Given the description of an element on the screen output the (x, y) to click on. 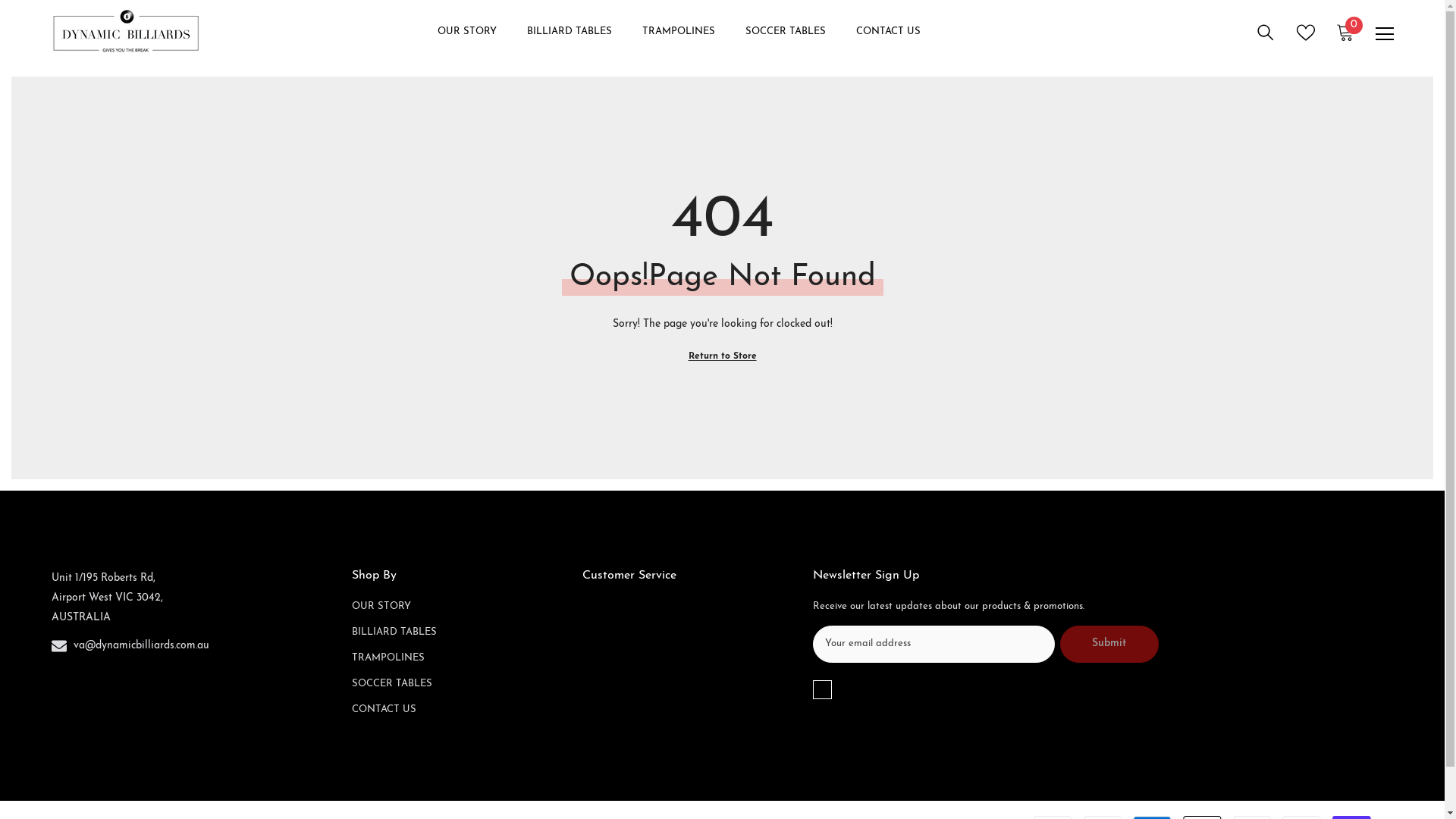
Hamburger Icon Element type: hover (1384, 34)
SOCCER TABLES Element type: text (784, 42)
TRAMPOLINES Element type: text (387, 658)
CONTACT US Element type: text (383, 709)
BILLIARD TABLES Element type: text (393, 632)
CONTACT US Element type: text (887, 42)
Cart
0
0 items Element type: text (1345, 32)
SOCCER TABLES Element type: text (391, 683)
TRAMPOLINES Element type: text (677, 42)
OUR STORY Element type: text (466, 42)
Return to Store Element type: text (722, 356)
OUR STORY Element type: text (381, 606)
va@dynamicbilliards.com.au Element type: text (140, 645)
Submit Element type: text (1109, 643)
BILLIARD TABLES Element type: text (568, 42)
